Given the description of an element on the screen output the (x, y) to click on. 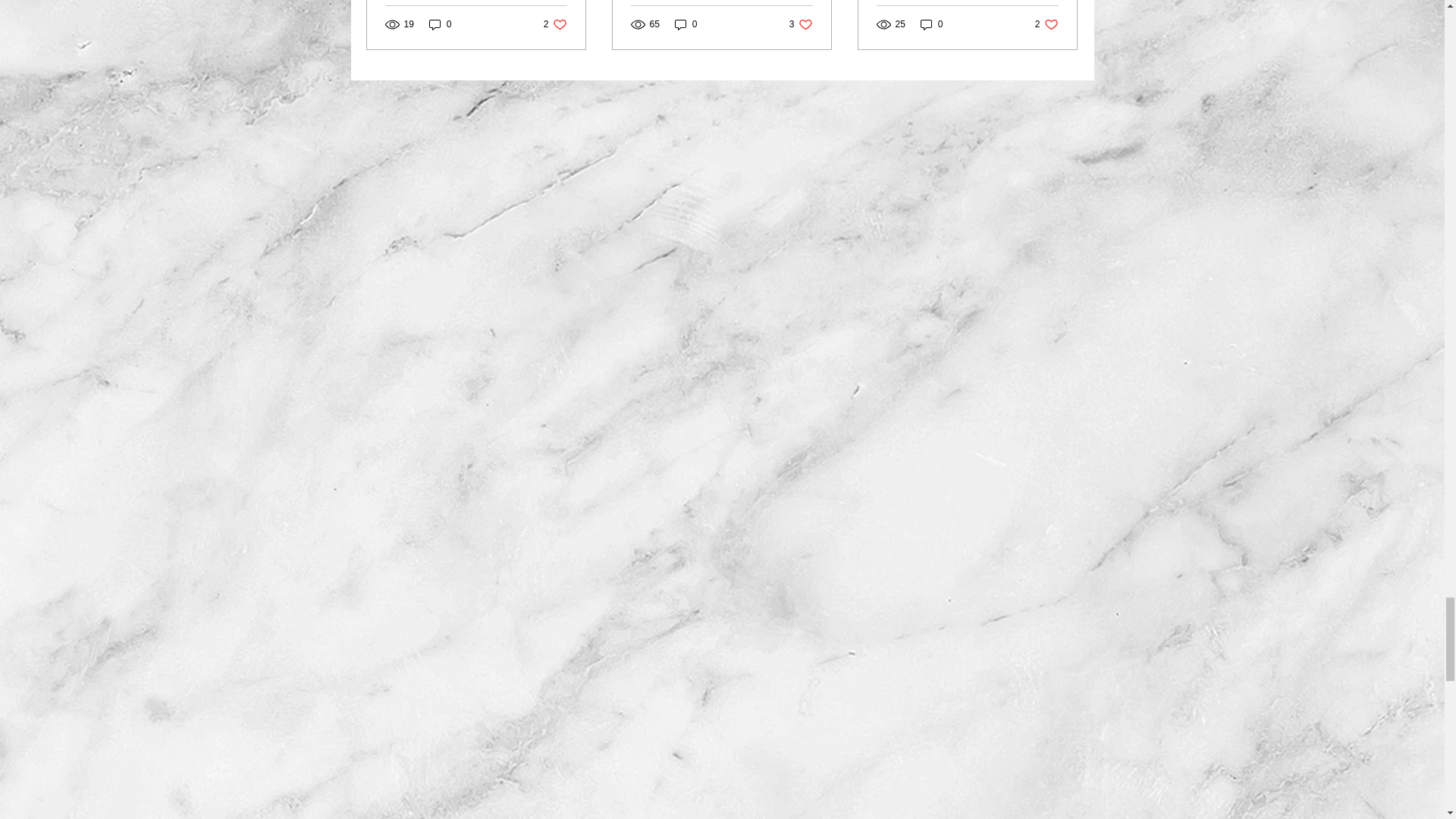
0 (685, 24)
0 (1046, 24)
0 (555, 24)
